Given the description of an element on the screen output the (x, y) to click on. 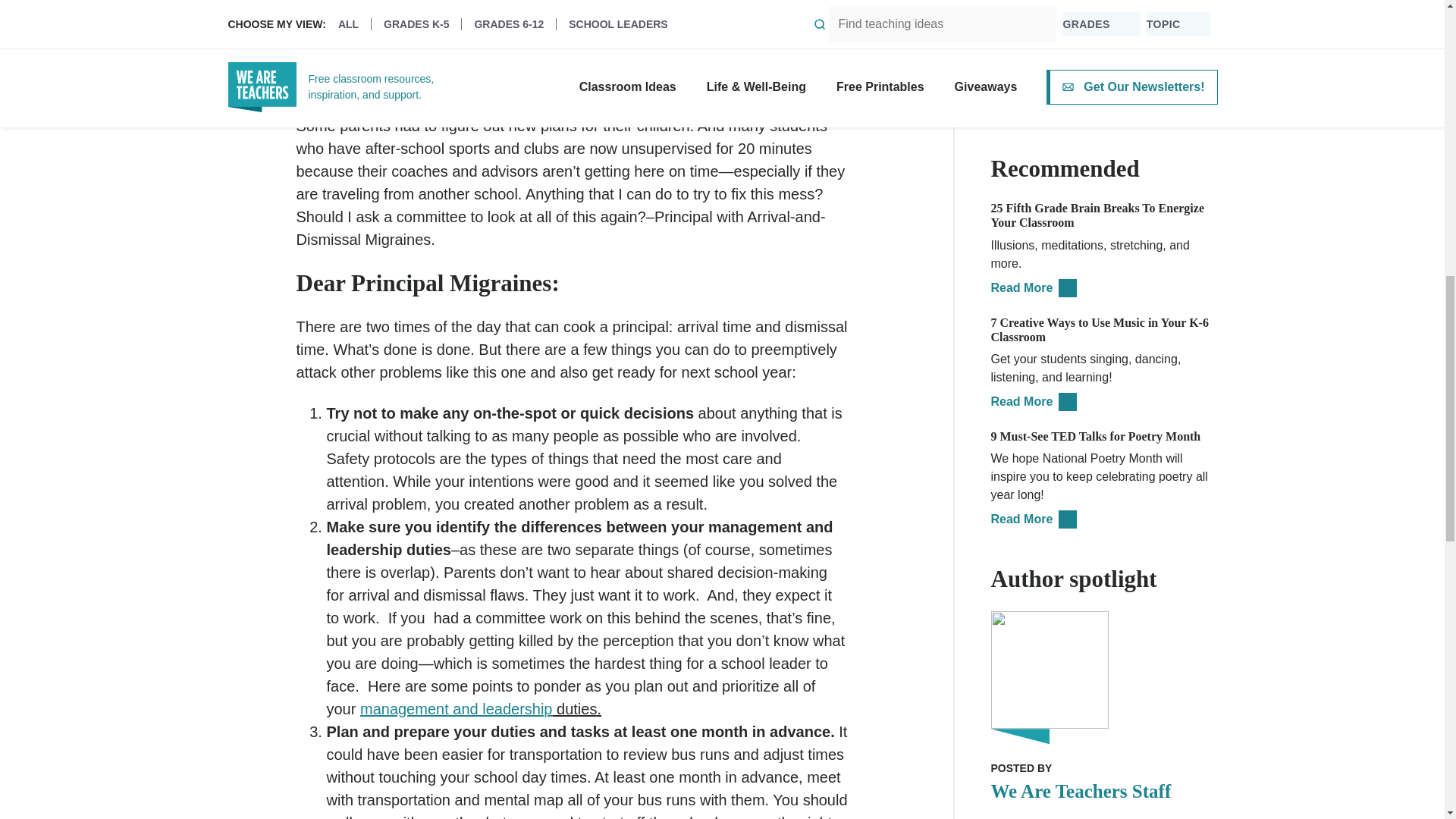
management and leadership (456, 709)
Read More (1033, 400)
Read More (1033, 287)
Read More (1033, 518)
weekly (1018, 22)
We Are Teachers Staff (1102, 791)
